Given the description of an element on the screen output the (x, y) to click on. 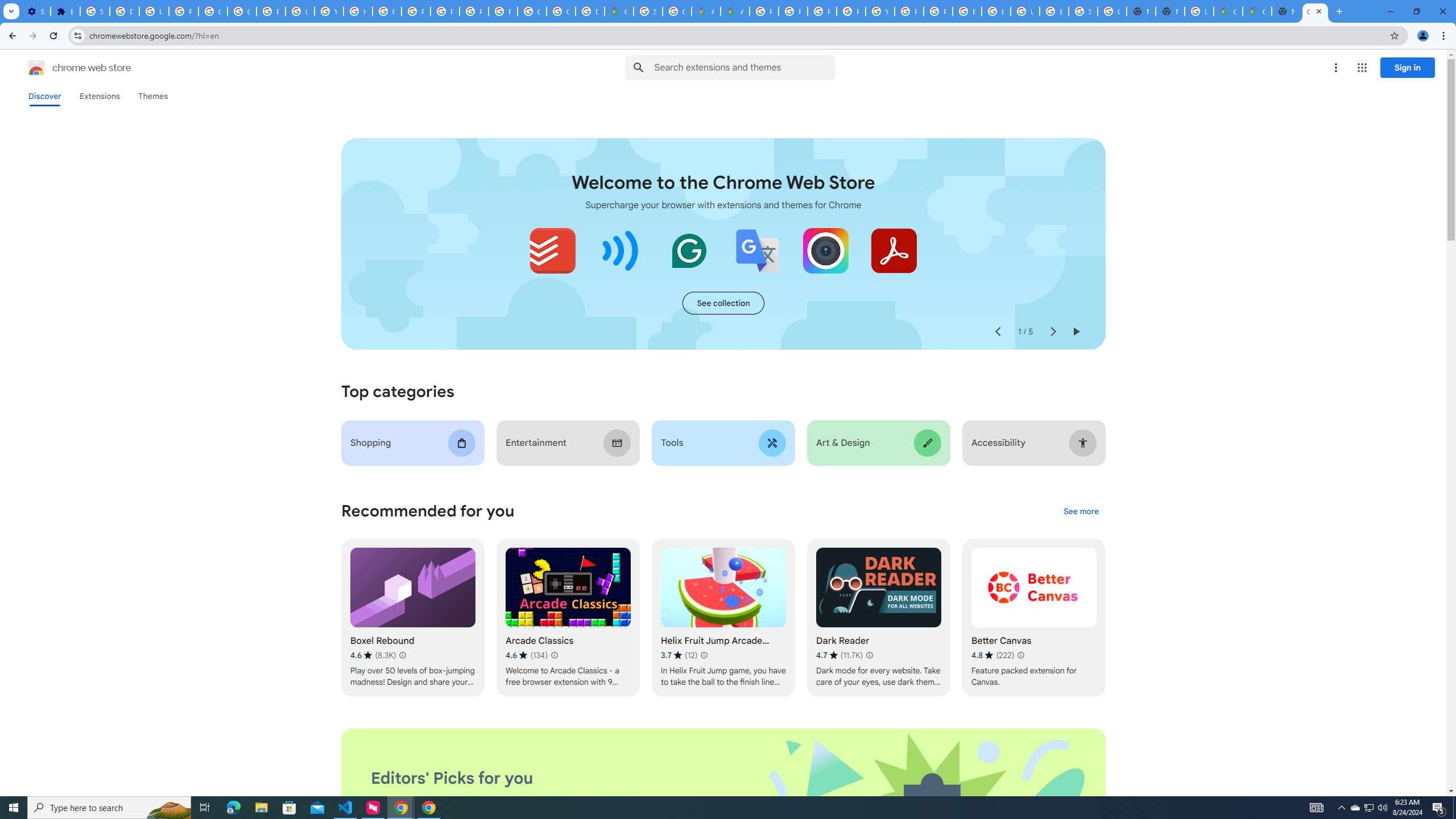
Google Account Help (212, 11)
New Tab (1169, 11)
Google Translate (757, 250)
Tools (722, 443)
Use Google Maps in Space - Google Maps Help (1198, 11)
Shopping (412, 443)
Art & Design (878, 443)
Entertainment (567, 443)
